Given the description of an element on the screen output the (x, y) to click on. 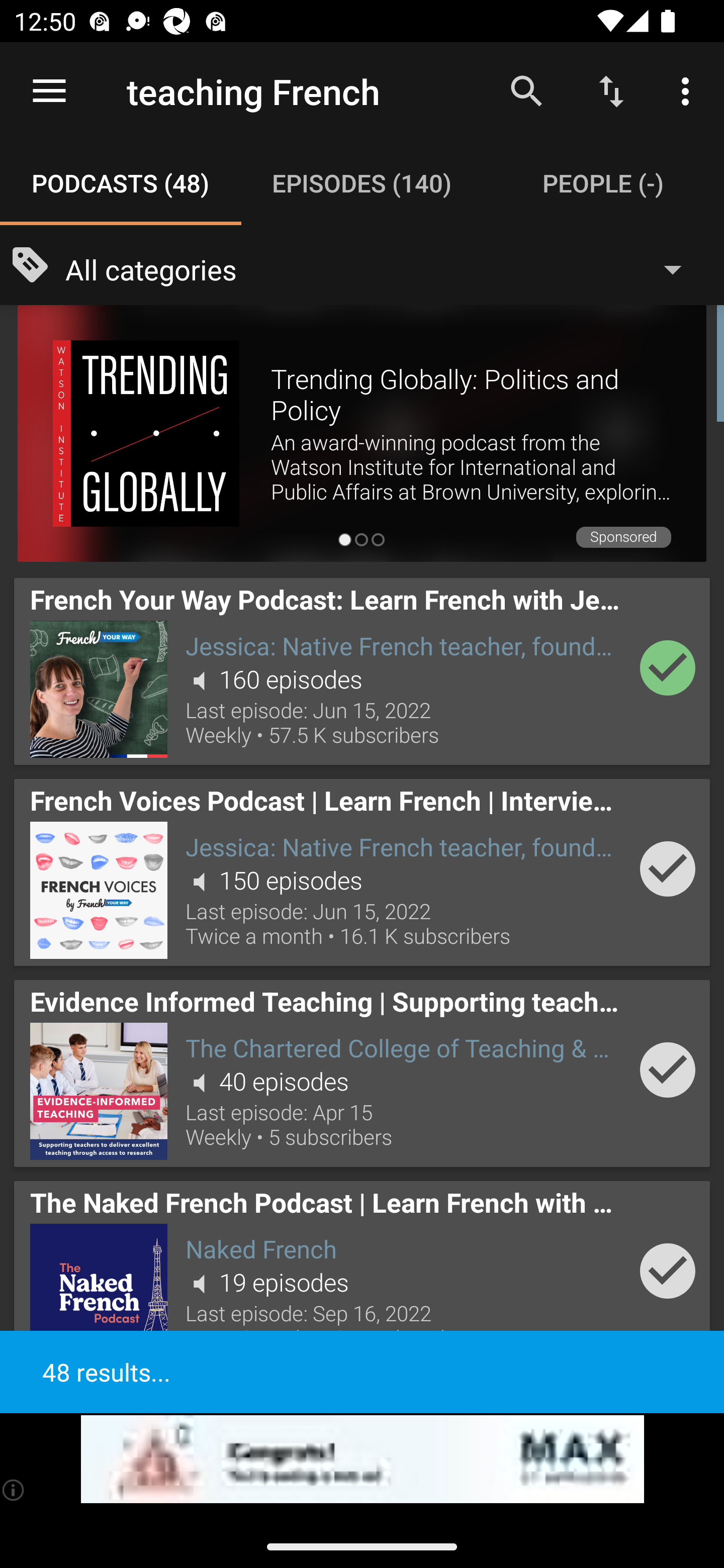
Open navigation sidebar (49, 91)
Search (526, 90)
Sort (611, 90)
More options (688, 90)
Episodes (140) EPISODES (140) (361, 183)
People (-) PEOPLE (-) (603, 183)
All categories (383, 268)
Add (667, 667)
Add (667, 868)
Add (667, 1069)
Add (667, 1271)
app-monetization (362, 1459)
(i) (14, 1489)
